Given the description of an element on the screen output the (x, y) to click on. 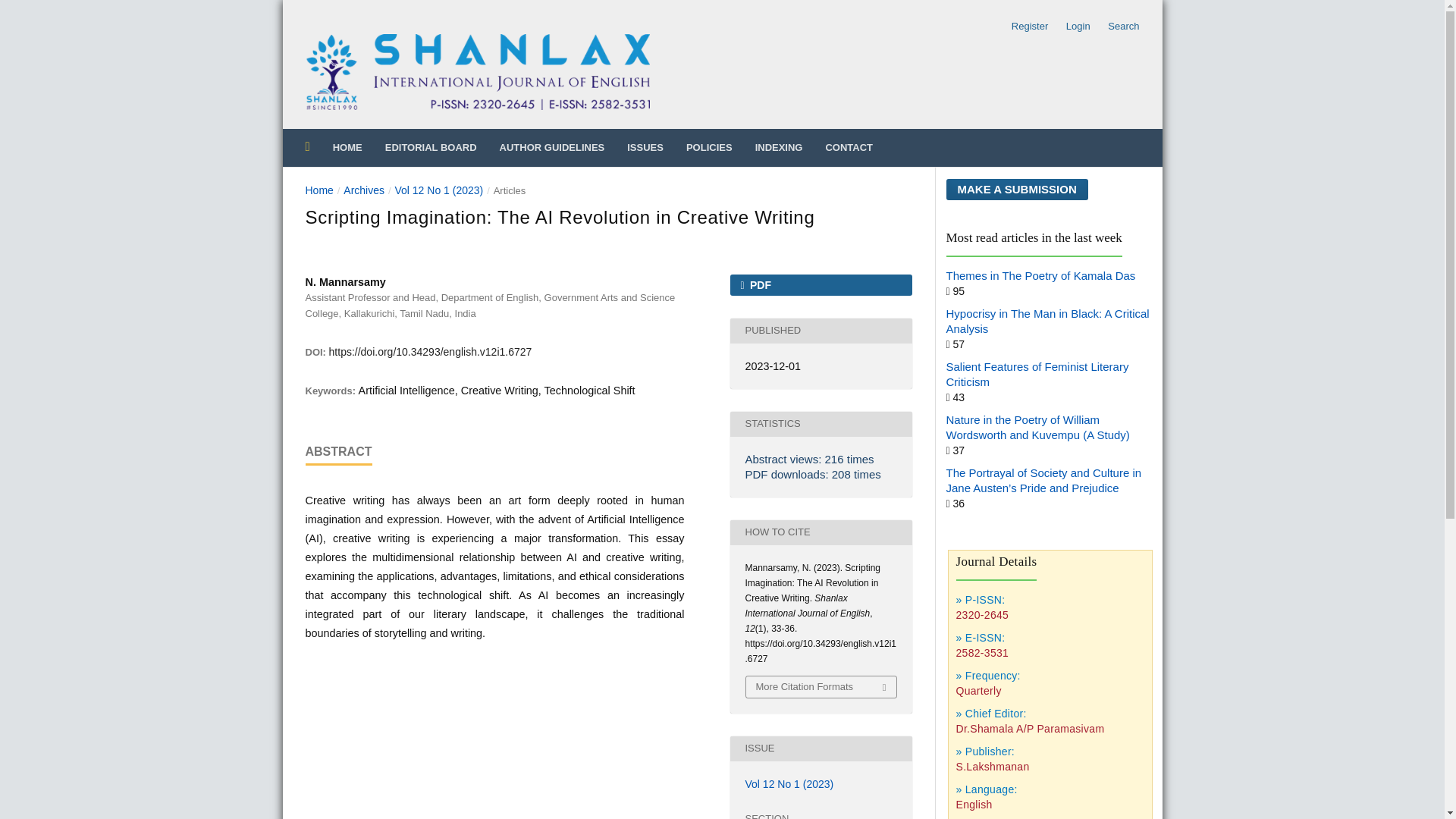
Login (1077, 26)
CONTACT (848, 147)
Home (318, 190)
Archives (363, 190)
More Citation Formats (820, 686)
HOME (347, 147)
INDEXING (779, 147)
POLICIES (708, 147)
PDF (820, 284)
Search (1119, 26)
